Given the description of an element on the screen output the (x, y) to click on. 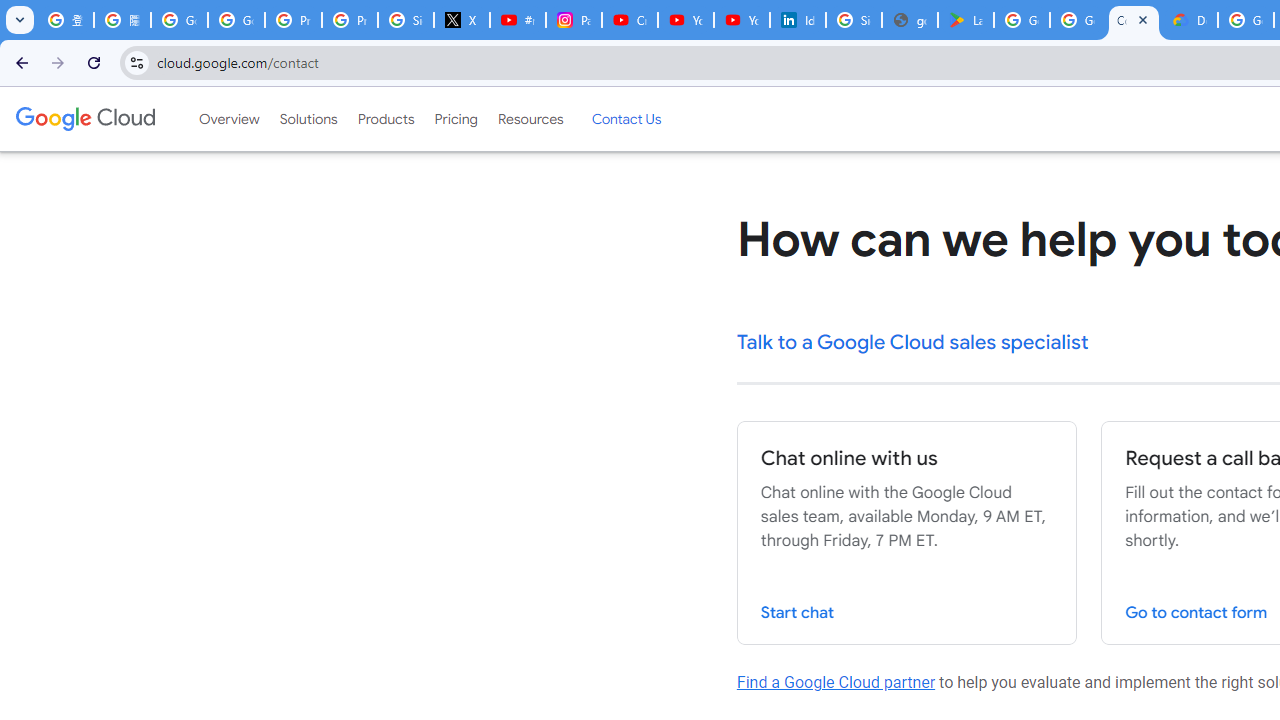
YouTube Culture & Trends - YouTube Top 10, 2021 (742, 20)
Google Cloud (84, 118)
Pricing (455, 119)
Privacy Help Center - Policies Help (349, 20)
Sign in - Google Accounts (405, 20)
Resources (530, 119)
google_privacy_policy_en.pdf (909, 20)
